Given the description of an element on the screen output the (x, y) to click on. 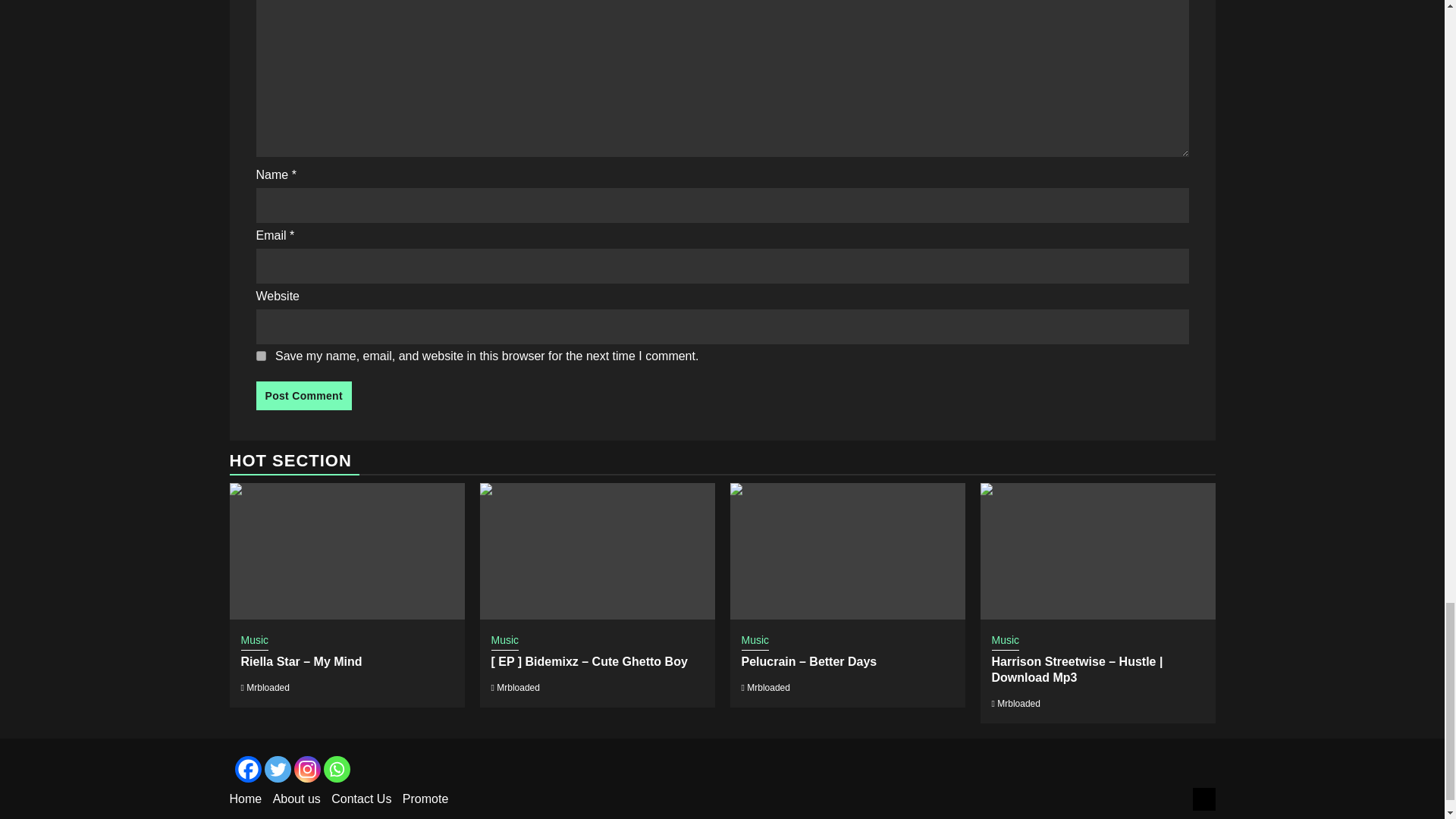
Twitter (276, 768)
Instagram (307, 768)
yes (261, 356)
Facebook (248, 768)
Post Comment (304, 395)
Whatsapp (336, 768)
